Given the description of an element on the screen output the (x, y) to click on. 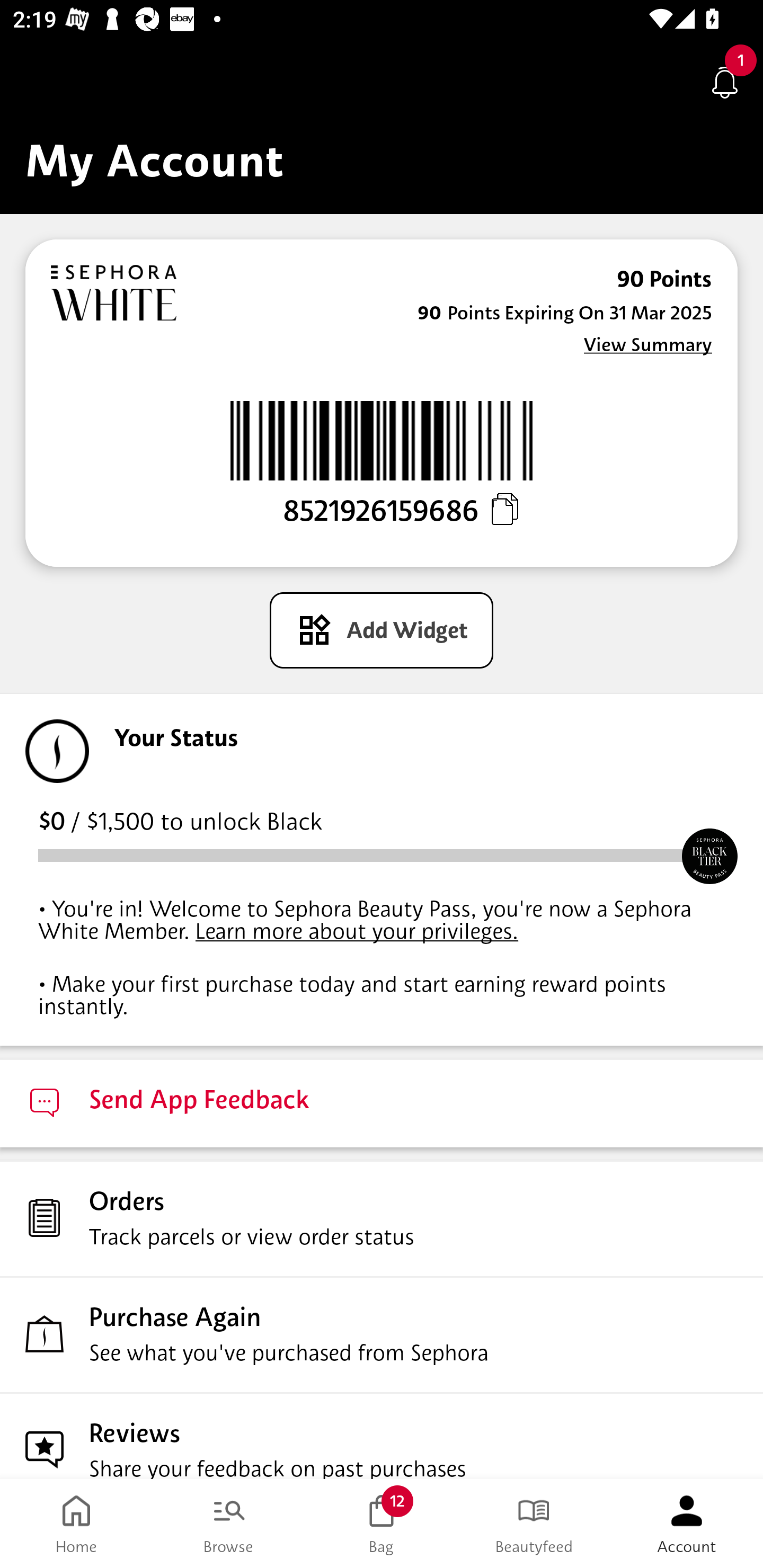
Notifications (724, 81)
View Summary (647, 343)
Add Widget (381, 629)
Send App Feedback (381, 1102)
Orders Track parcels or view order status (381, 1218)
Reviews Share your feedback on past purchases (381, 1435)
Home (76, 1523)
Browse (228, 1523)
Bag 12 Bag (381, 1523)
Beautyfeed (533, 1523)
